Given the description of an element on the screen output the (x, y) to click on. 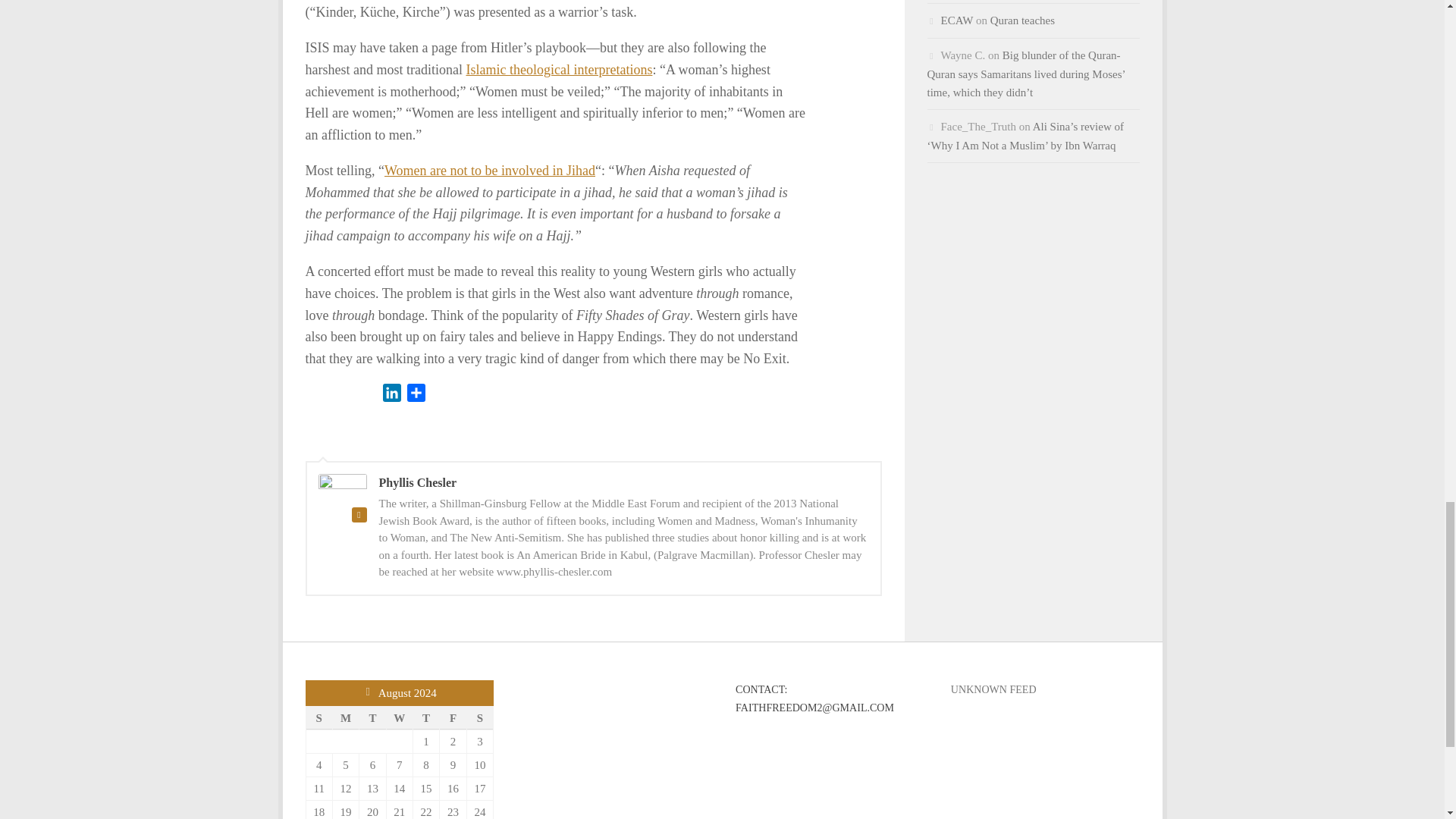
Sunday (318, 717)
LinkedIn (390, 395)
Monday (344, 717)
